Given the description of an element on the screen output the (x, y) to click on. 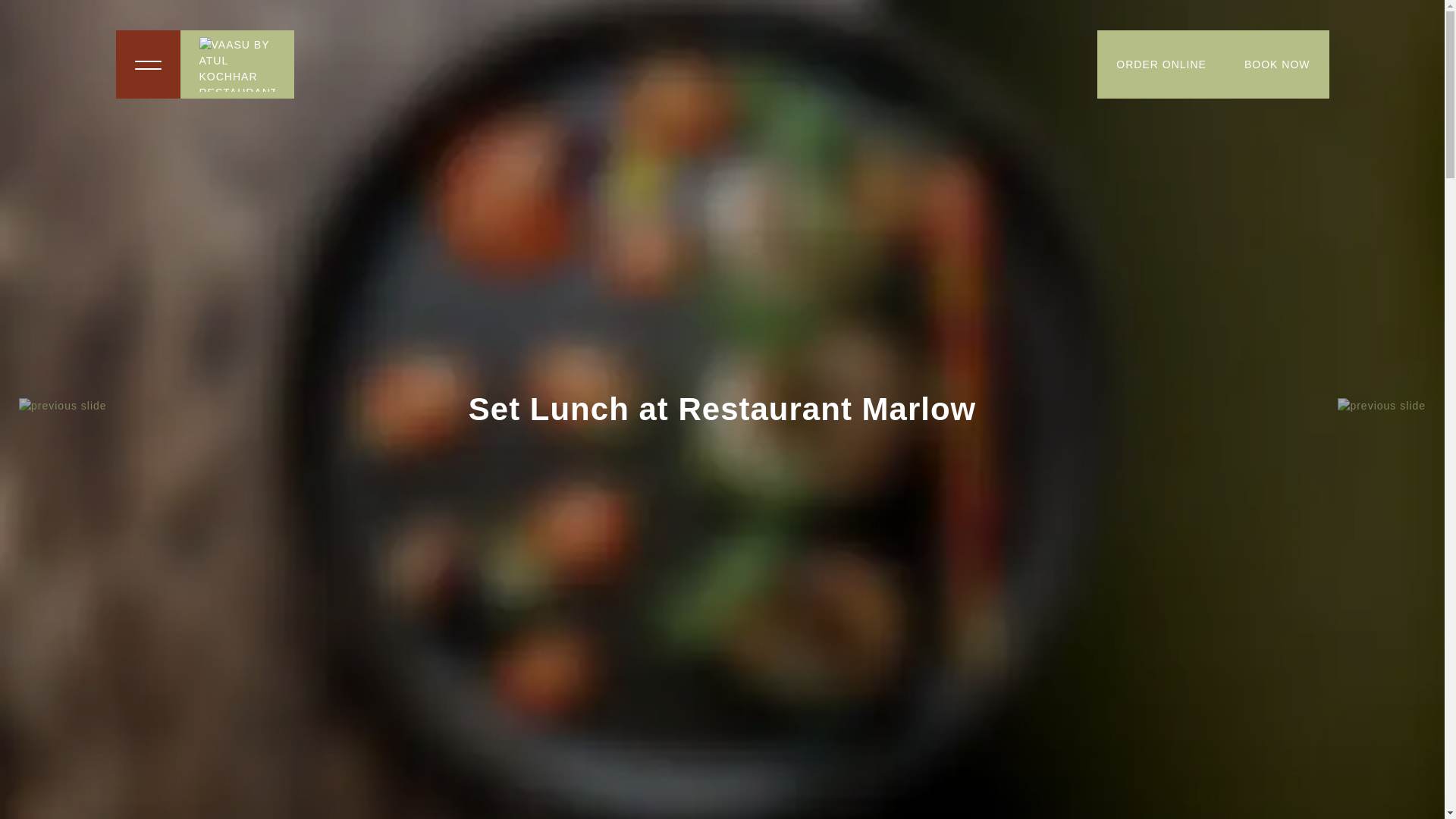
BOOK NOW (1277, 64)
ORDER ONLINE (1161, 64)
Order Online (1161, 64)
Book Now (1277, 64)
Menu (147, 64)
